Given the description of an element on the screen output the (x, y) to click on. 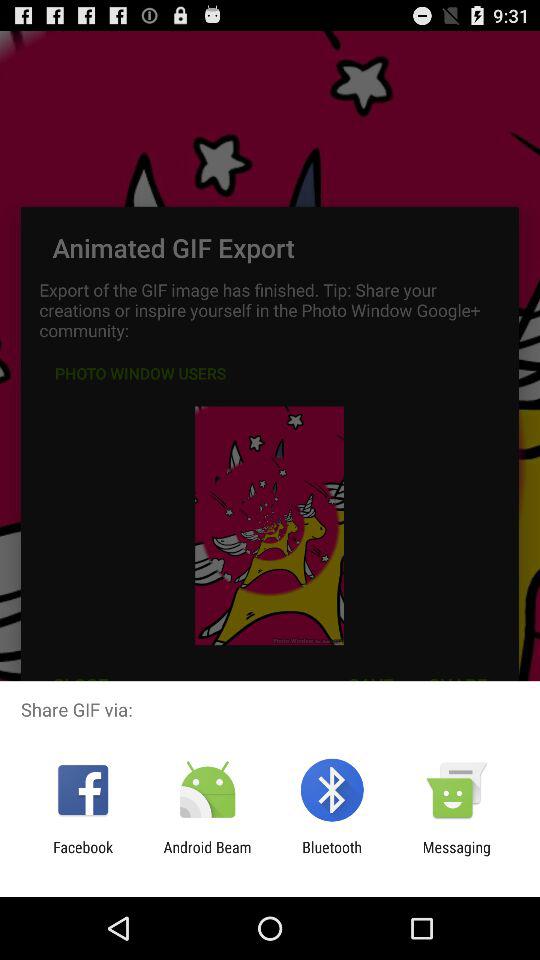
tap the app next to the facebook app (207, 856)
